Given the description of an element on the screen output the (x, y) to click on. 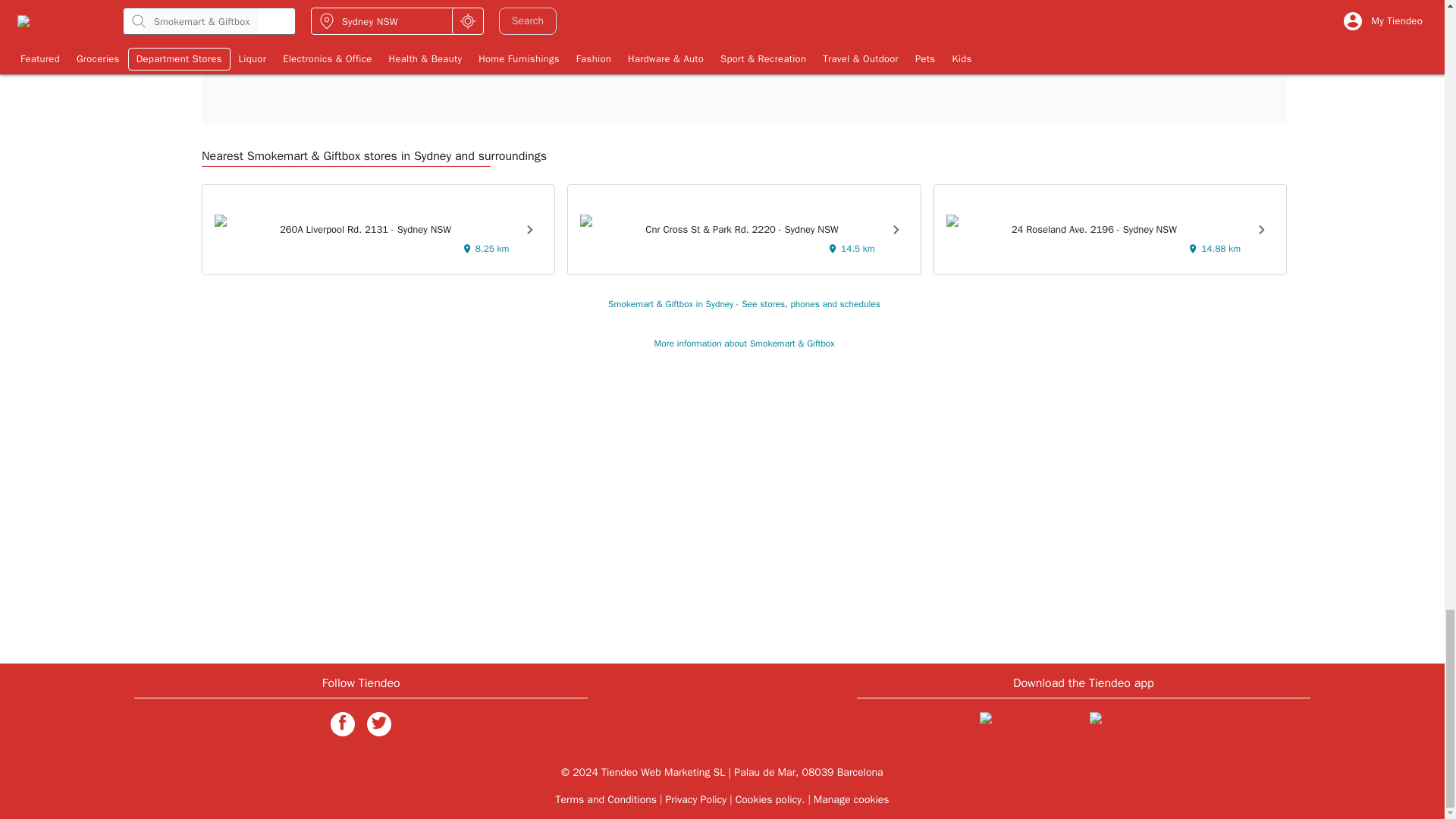
twitter (378, 723)
Android App (1138, 726)
facebook (342, 723)
iOS App (1028, 726)
Logo David Jones (314, 4)
